Given the description of an element on the screen output the (x, y) to click on. 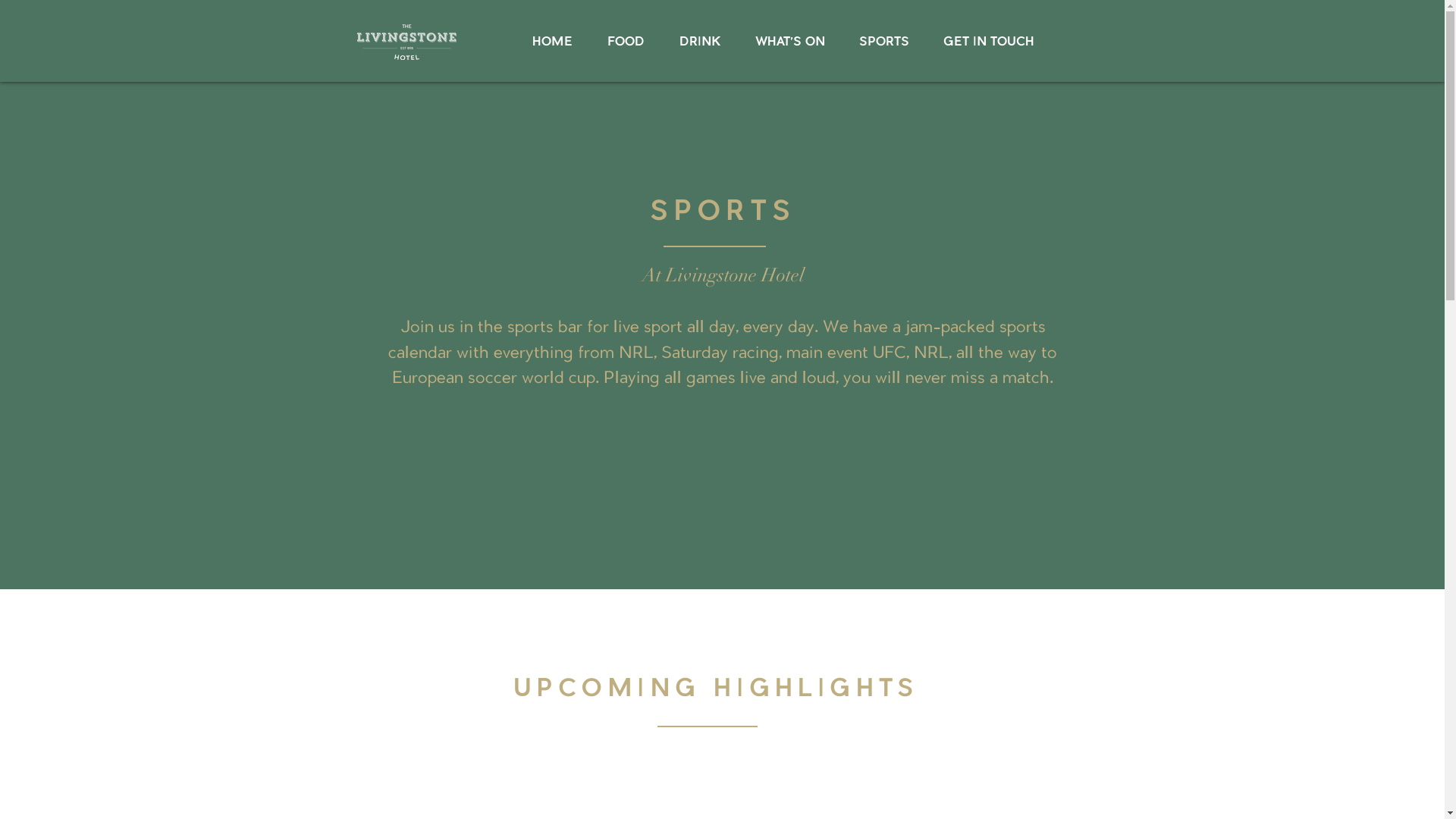
DRINK Element type: text (699, 42)
SPORTS Element type: text (883, 42)
Livingstone+Hotel+LogoV2-2 copy.png Element type: hover (405, 41)
WHAT'S ON Element type: text (790, 42)
GET IN TOUCH Element type: text (988, 42)
FOOD Element type: text (625, 42)
HOME Element type: text (551, 42)
